Given the description of an element on the screen output the (x, y) to click on. 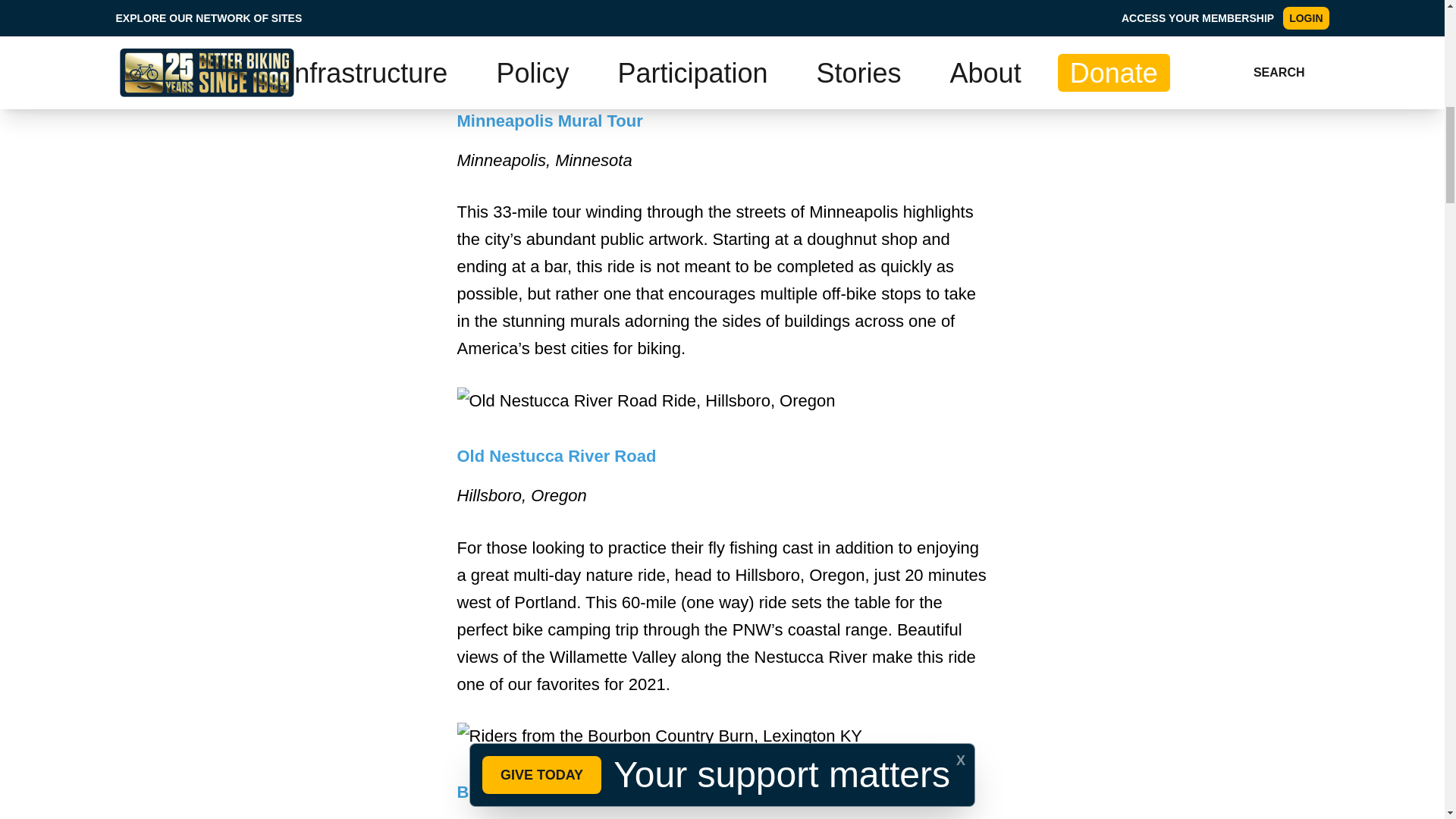
Old Nestucca River Road (556, 456)
Bourbon Country Burn (548, 791)
Minneapolis Mural Tour (549, 120)
